Given the description of an element on the screen output the (x, y) to click on. 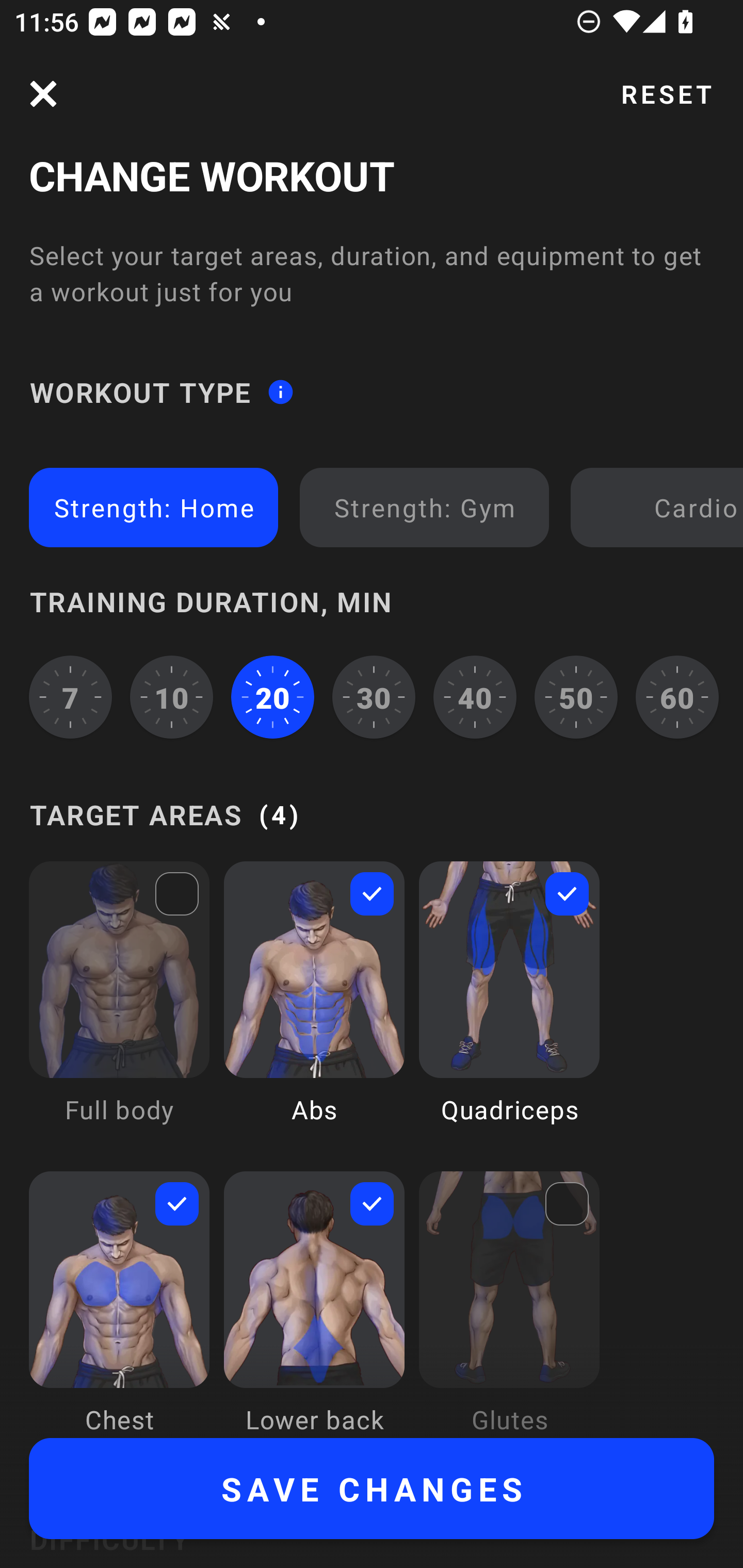
Navigation icon (43, 93)
RESET (666, 93)
Workout type information button (280, 391)
Strength: Gym (423, 507)
Cardio (660, 507)
7 (70, 696)
10 (171, 696)
20 (272, 696)
30 (373, 696)
40 (474, 696)
50 (575, 696)
60 (676, 696)
Full body (118, 1007)
Glutes (509, 1304)
SAVE CHANGES (371, 1488)
